Given the description of an element on the screen output the (x, y) to click on. 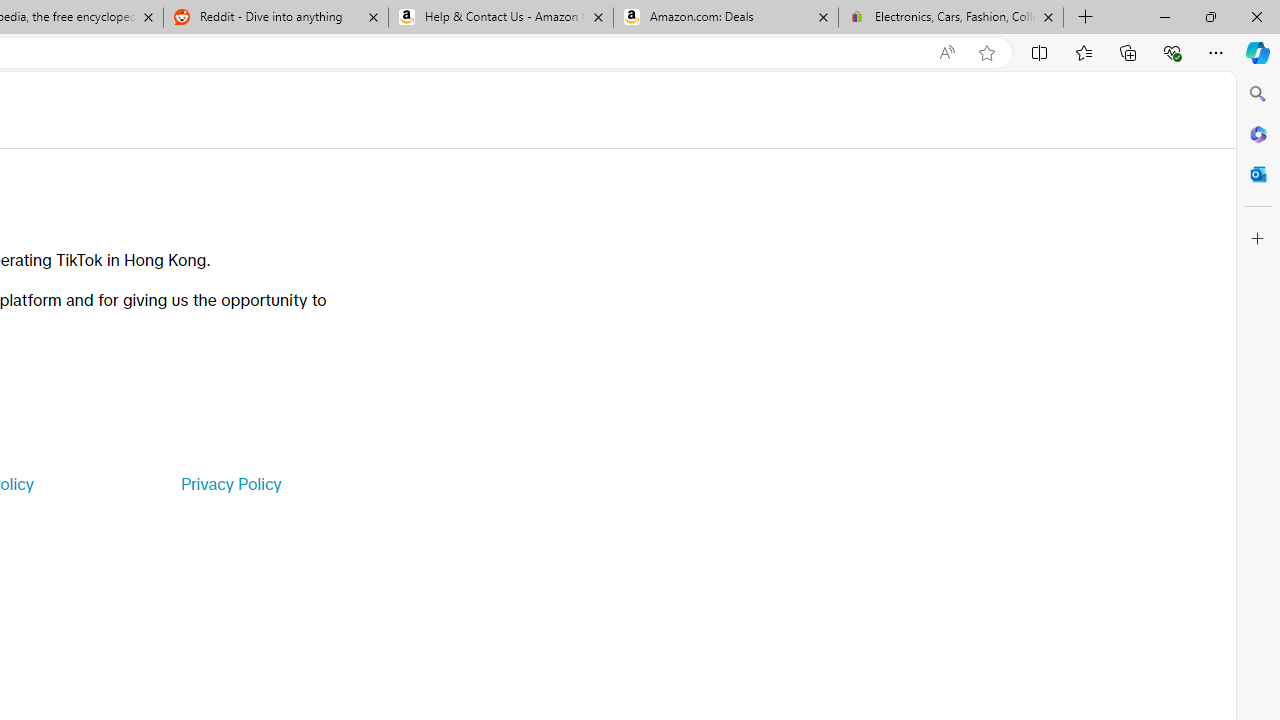
Electronics, Cars, Fashion, Collectibles & More | eBay (950, 17)
Privacy Policy (230, 484)
